Given the description of an element on the screen output the (x, y) to click on. 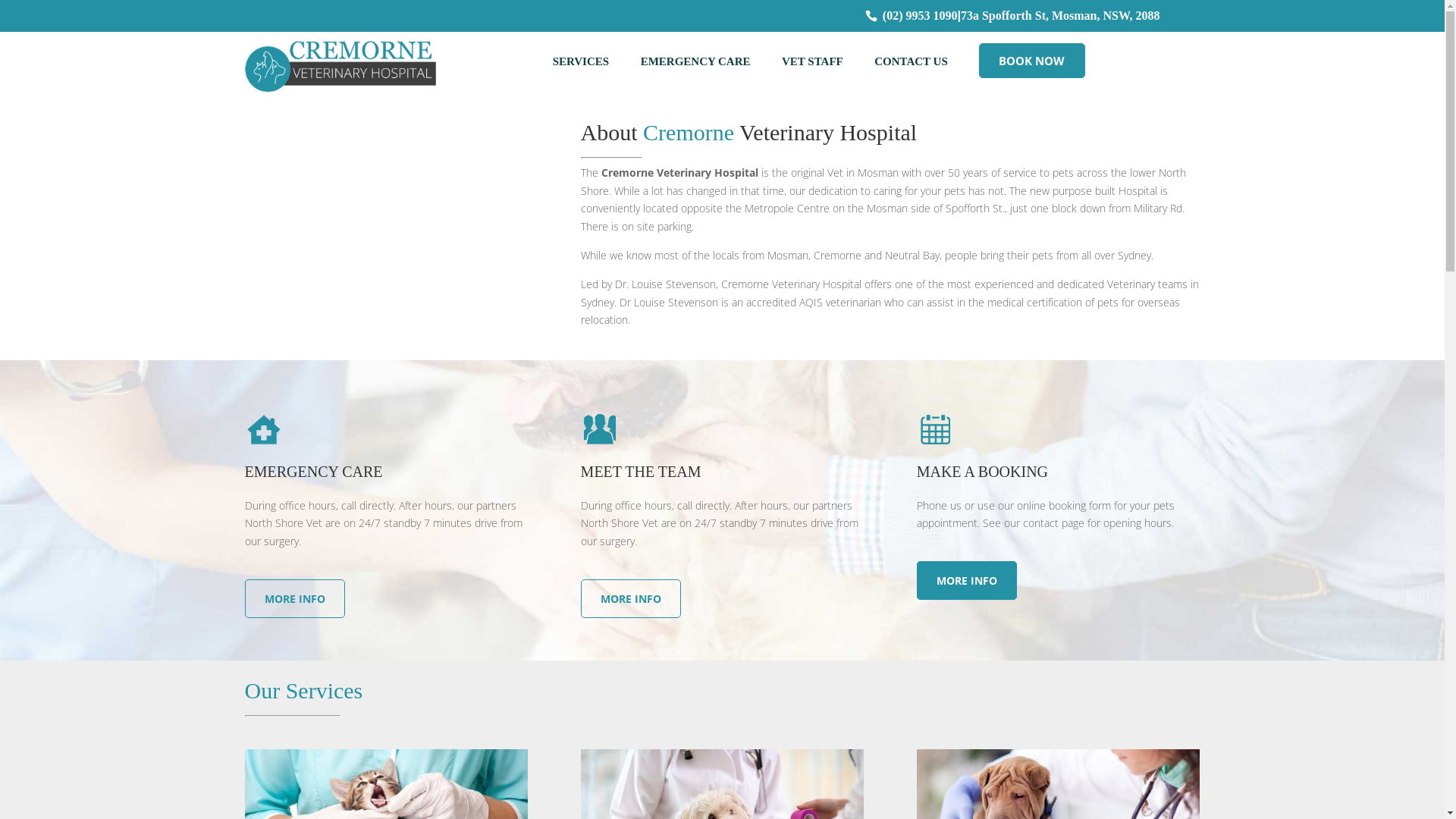
73a Spofforth St, Mosman, NSW, 2088 Element type: text (1060, 15)
MORE INFO Element type: text (630, 598)
VET STAFF Element type: text (815, 61)
MORE INFO Element type: text (294, 598)
MORE INFO Element type: text (966, 580)
BOOK NOW Element type: text (1032, 60)
(02) 9953 1090 Element type: text (919, 15)
EMERGENCY CARE Element type: text (699, 61)
CONTACT US Element type: text (914, 61)
SERVICES Element type: text (584, 61)
